Given the description of an element on the screen output the (x, y) to click on. 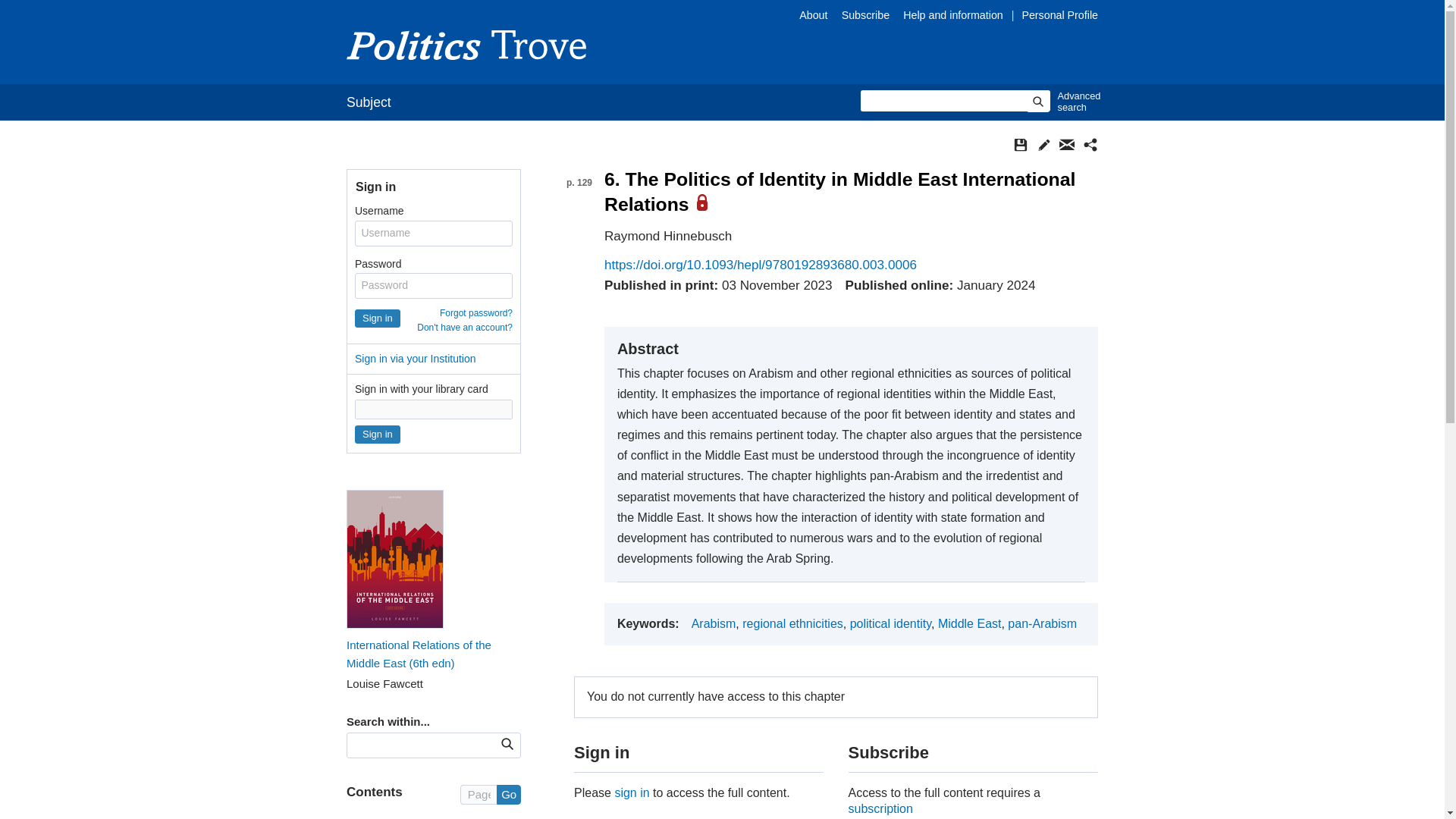
Subscribe (865, 15)
Go (508, 794)
Cite (1043, 144)
Search (1037, 101)
Subject (368, 102)
Advanced search (1075, 101)
Sign in (377, 434)
Cite (1043, 144)
GO (507, 743)
Save (1020, 144)
